Given the description of an element on the screen output the (x, y) to click on. 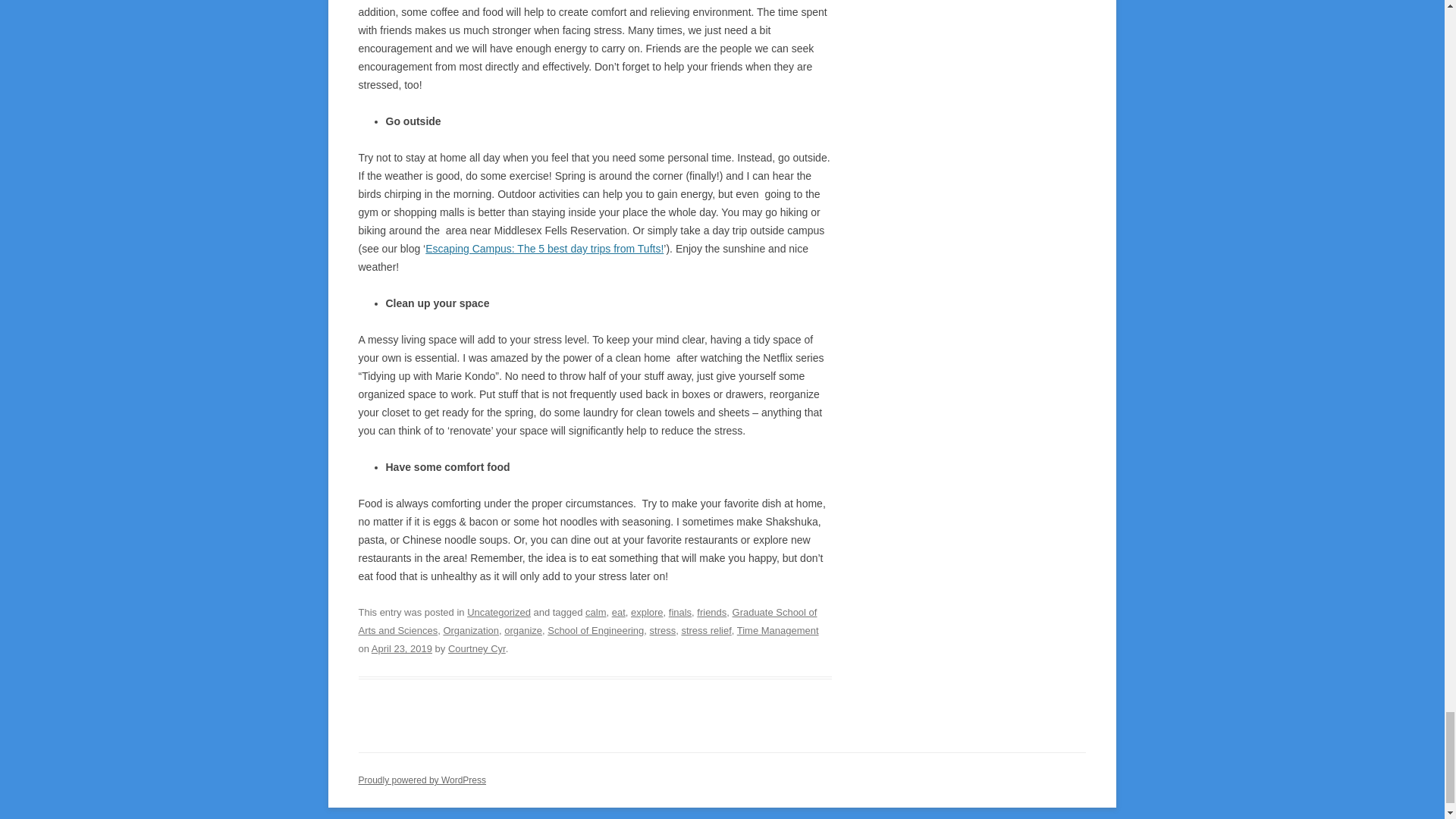
View all posts by Courtney Cyr (476, 648)
Semantic Personal Publishing Platform (422, 779)
8:59 am (401, 648)
